Given the description of an element on the screen output the (x, y) to click on. 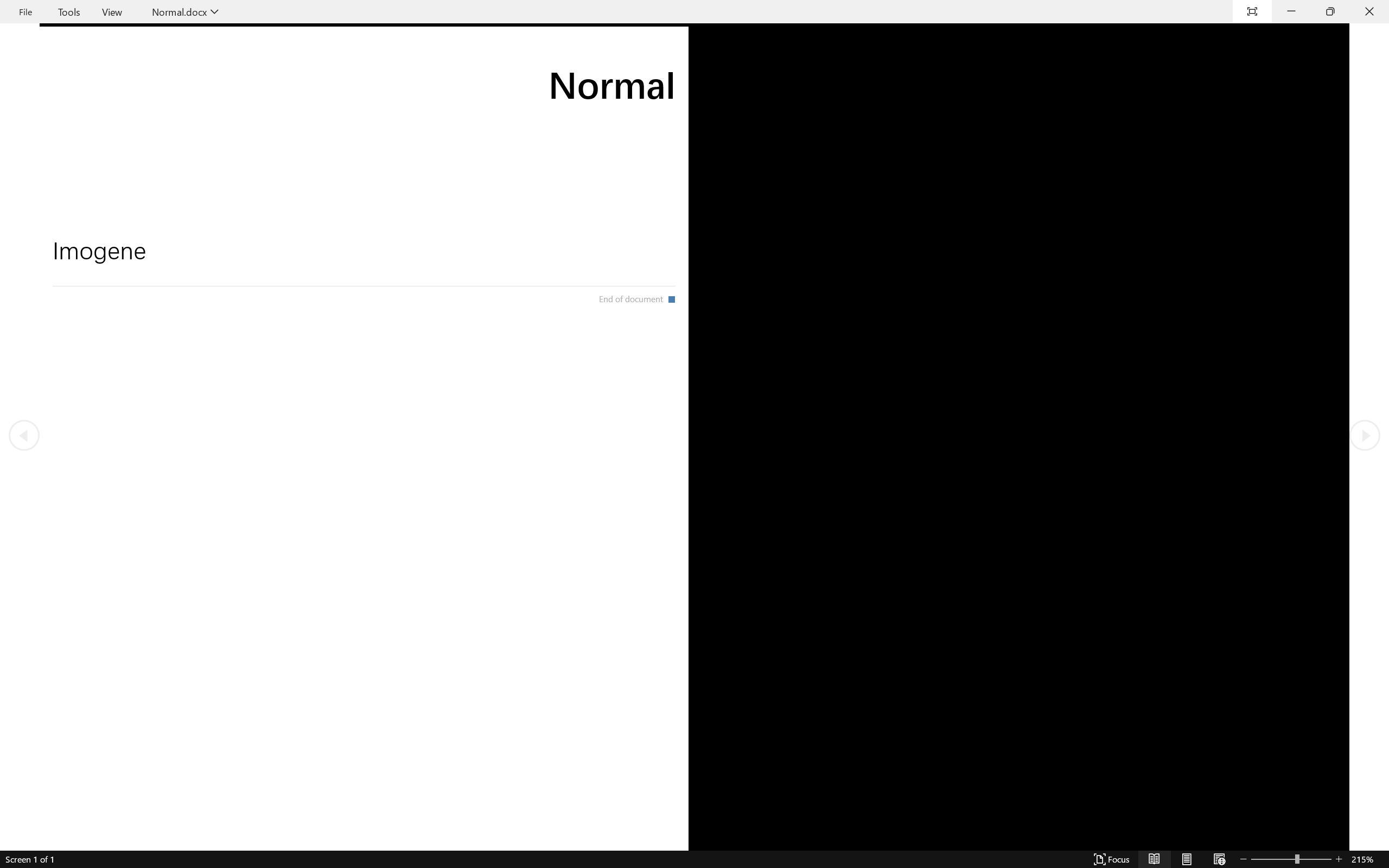
Class: Net UI Tool Window Layered (694, 11)
Class: NetUIScrollBar (694, 860)
